Given the description of an element on the screen output the (x, y) to click on. 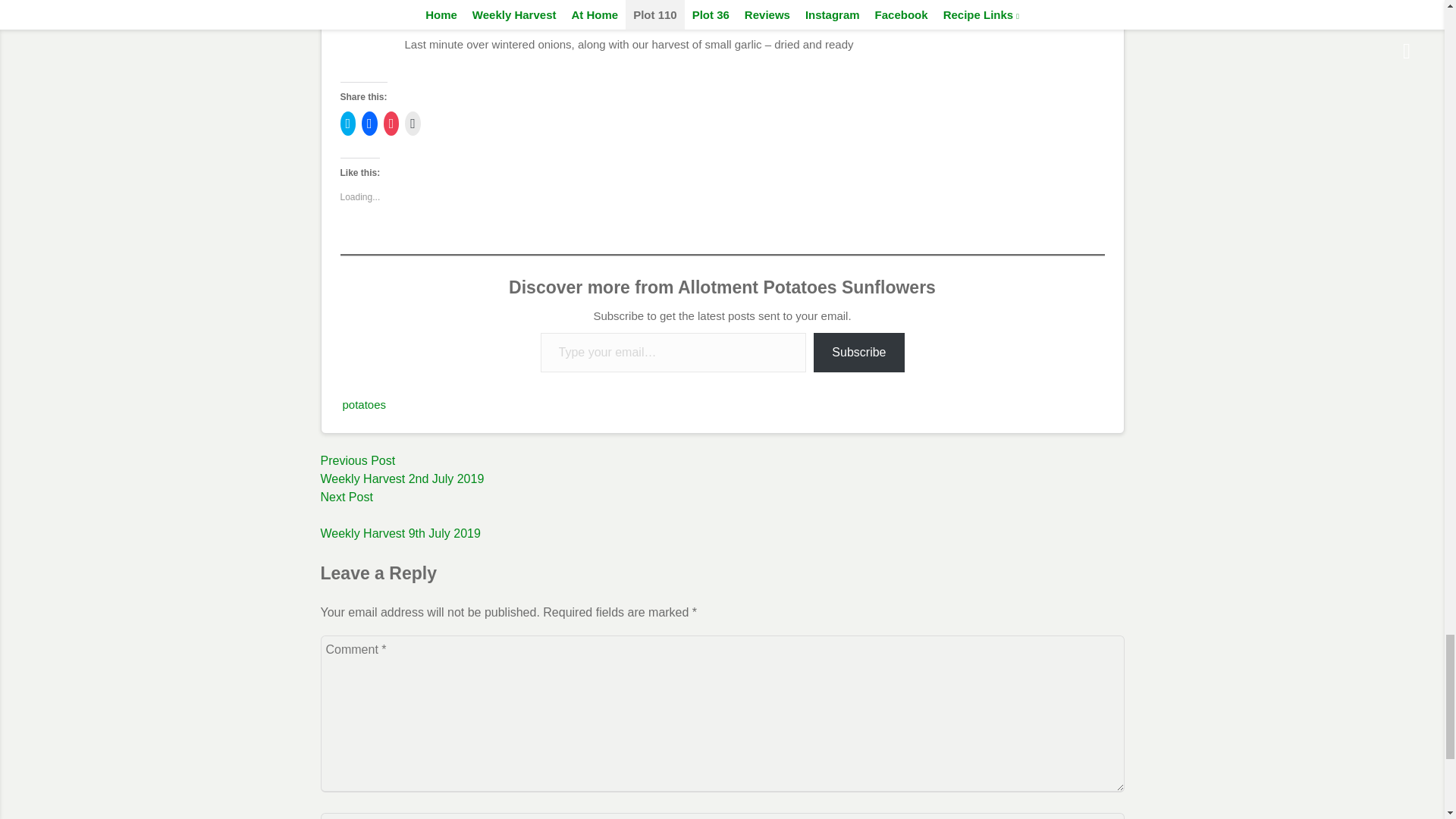
potatoes (364, 404)
Subscribe (858, 352)
Please fill in this field. (722, 461)
